Given the description of an element on the screen output the (x, y) to click on. 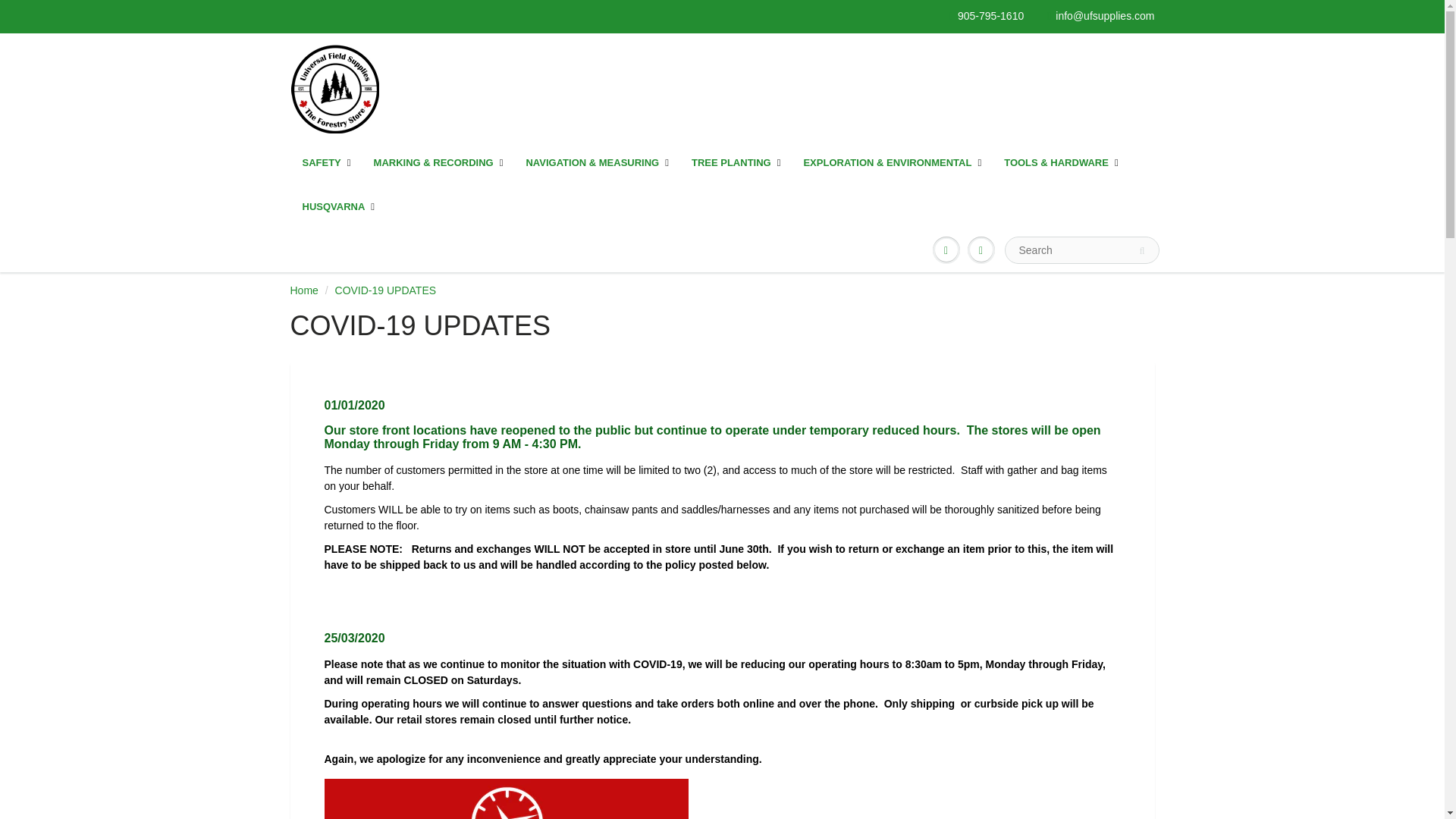
905-795-1610 (986, 16)
Home (303, 290)
SAFETY (326, 162)
